Given the description of an element on the screen output the (x, y) to click on. 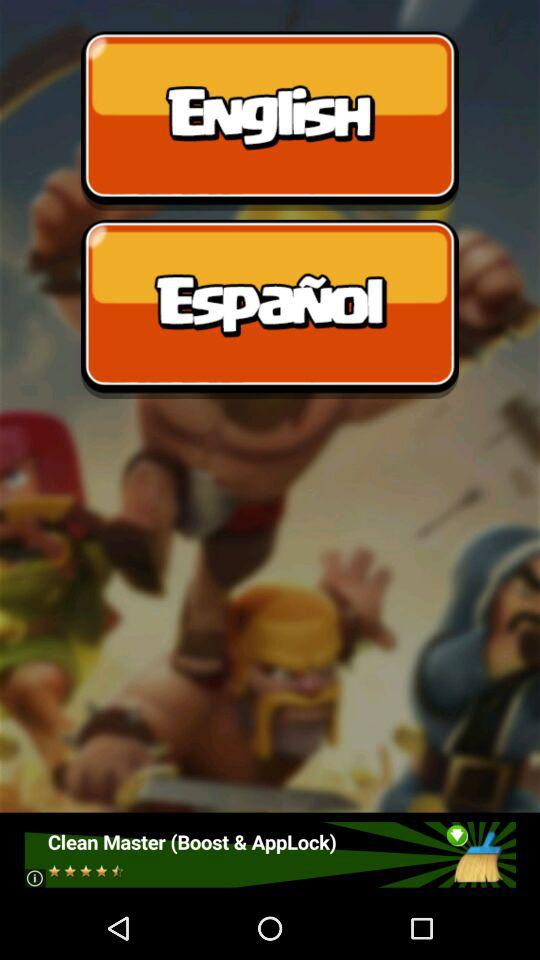
advertisement (269, 854)
